Given the description of an element on the screen output the (x, y) to click on. 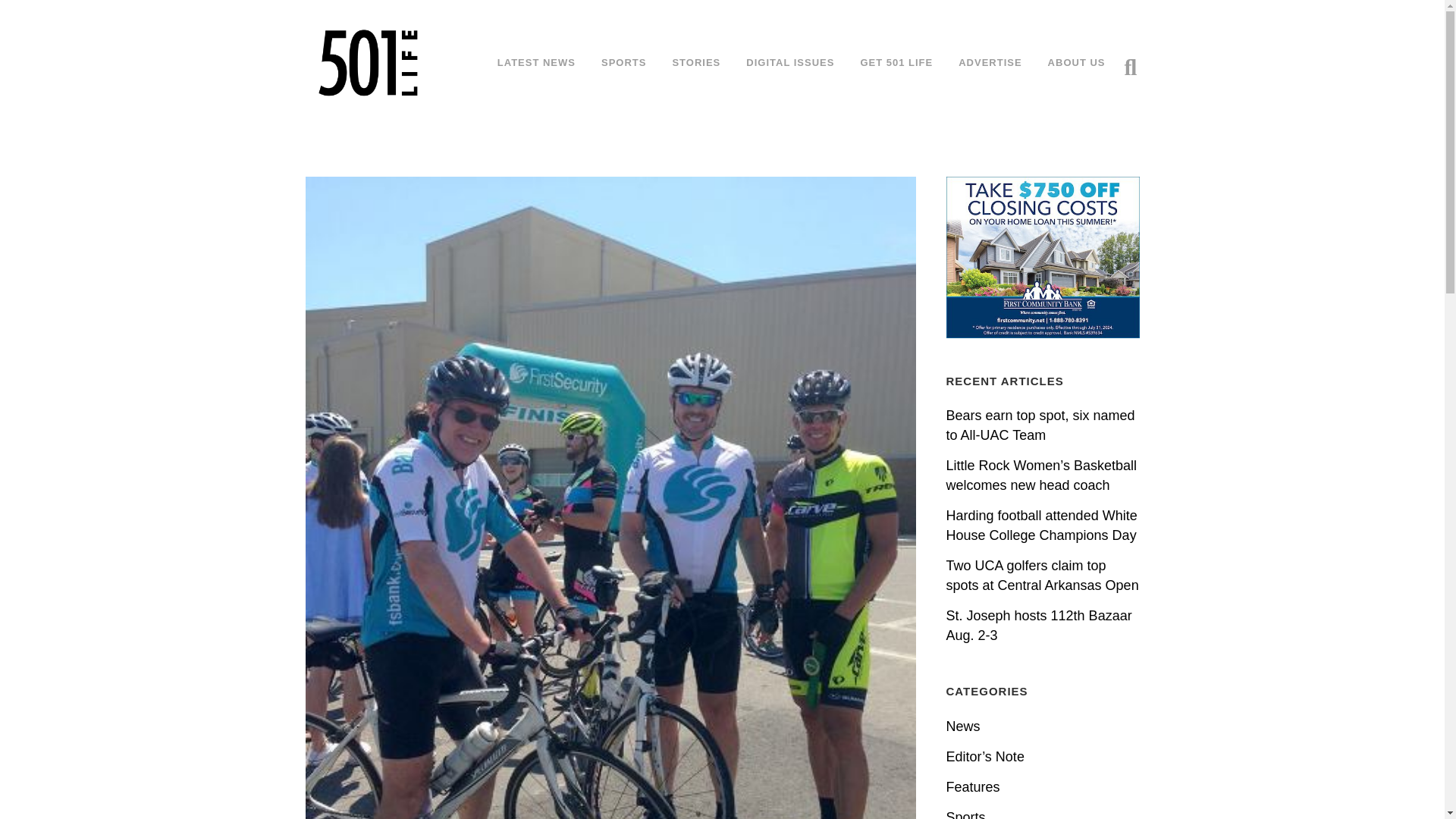
ADVERTISE (988, 62)
STORIES (696, 62)
DIGITAL ISSUES (790, 62)
SPORTS (623, 62)
ABOUT US (1076, 62)
LATEST NEWS (536, 62)
GET 501 LIFE (895, 62)
